Given the description of an element on the screen output the (x, y) to click on. 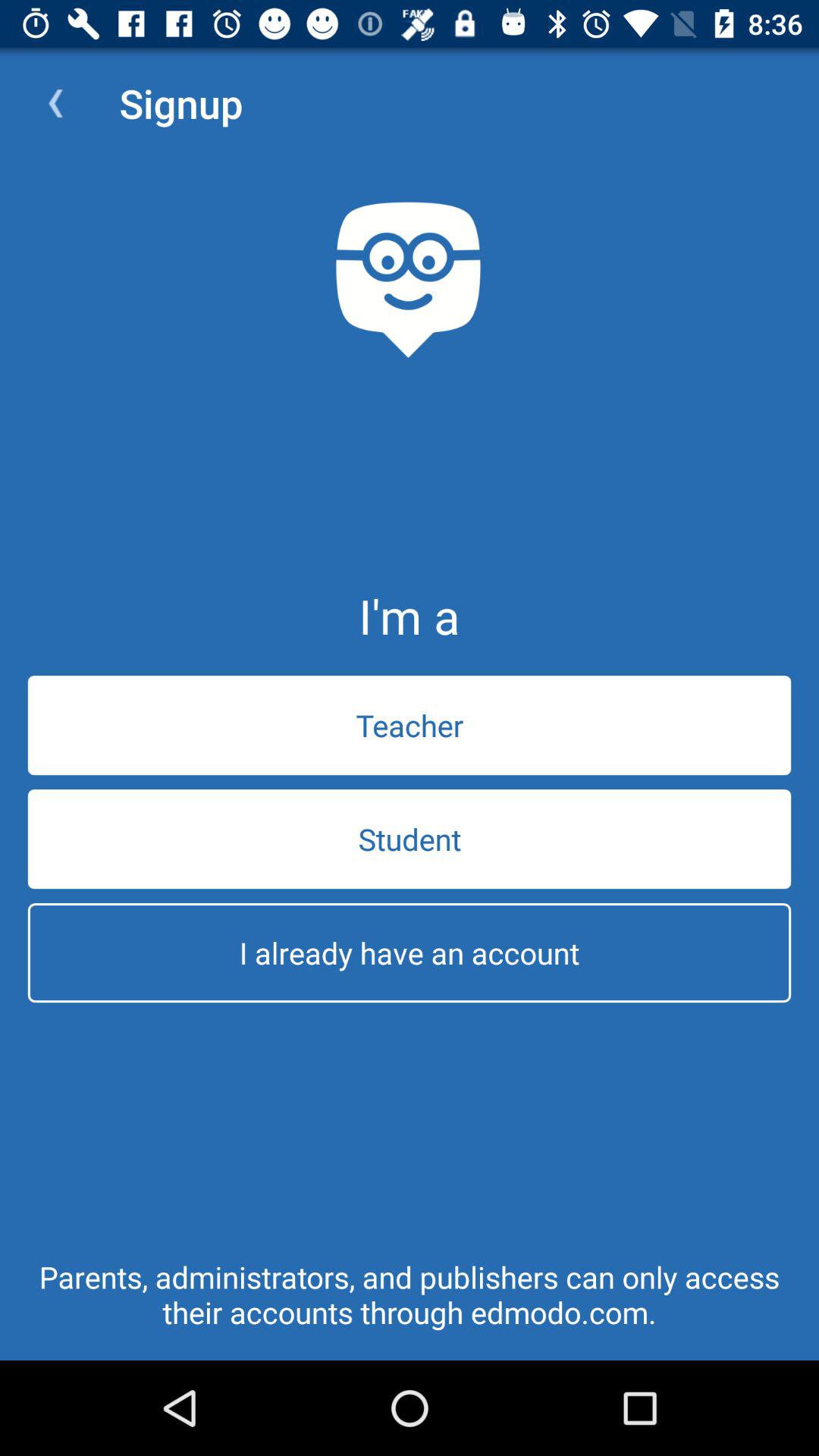
turn on app next to signup icon (55, 103)
